Given the description of an element on the screen output the (x, y) to click on. 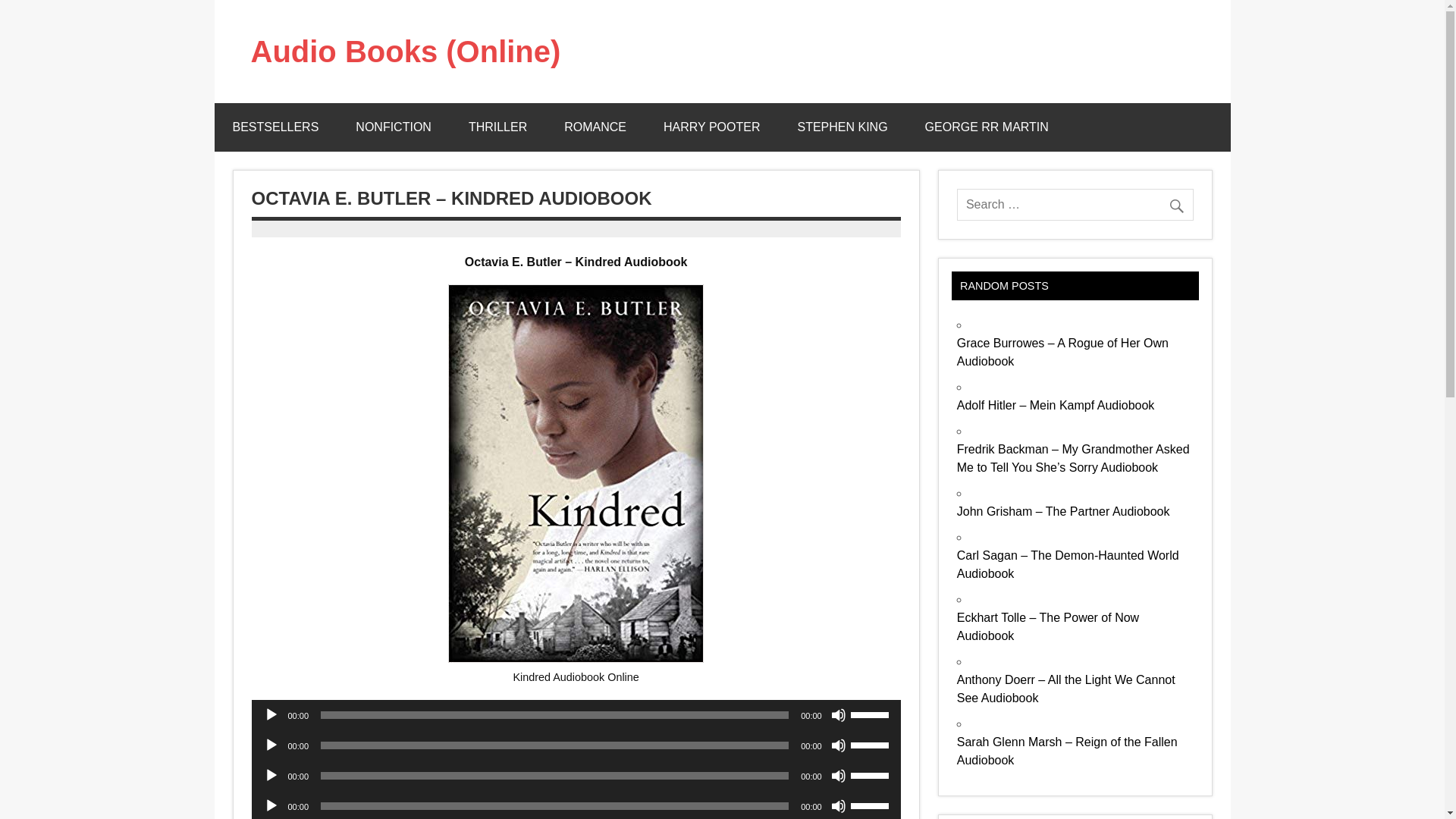
Play (271, 806)
Play (271, 714)
THRILLER (496, 127)
Mute (838, 775)
HARRY POOTER (711, 127)
Play (271, 744)
Mute (838, 806)
NONFICTION (393, 127)
Mute (838, 744)
ROMANCE (595, 127)
Play (271, 775)
GEORGE RR MARTIN (987, 127)
STEPHEN KING (841, 127)
BESTSELLERS (275, 127)
Mute (838, 714)
